Given the description of an element on the screen output the (x, y) to click on. 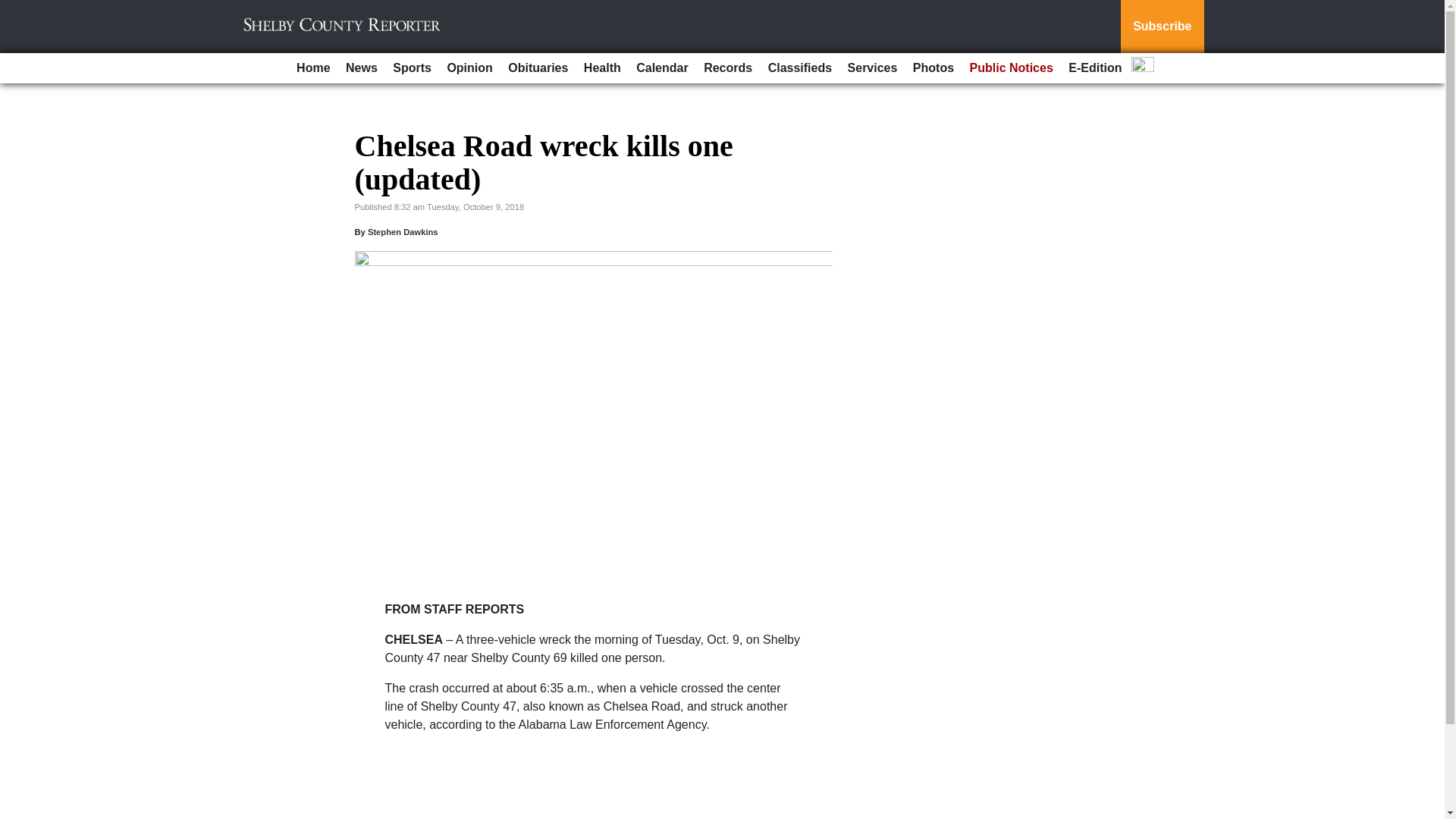
Sports (412, 68)
Classifieds (799, 68)
News (361, 68)
Records (727, 68)
Opinion (469, 68)
Subscribe (1162, 26)
Home (312, 68)
Calendar (662, 68)
Obituaries (537, 68)
Services (872, 68)
